Given the description of an element on the screen output the (x, y) to click on. 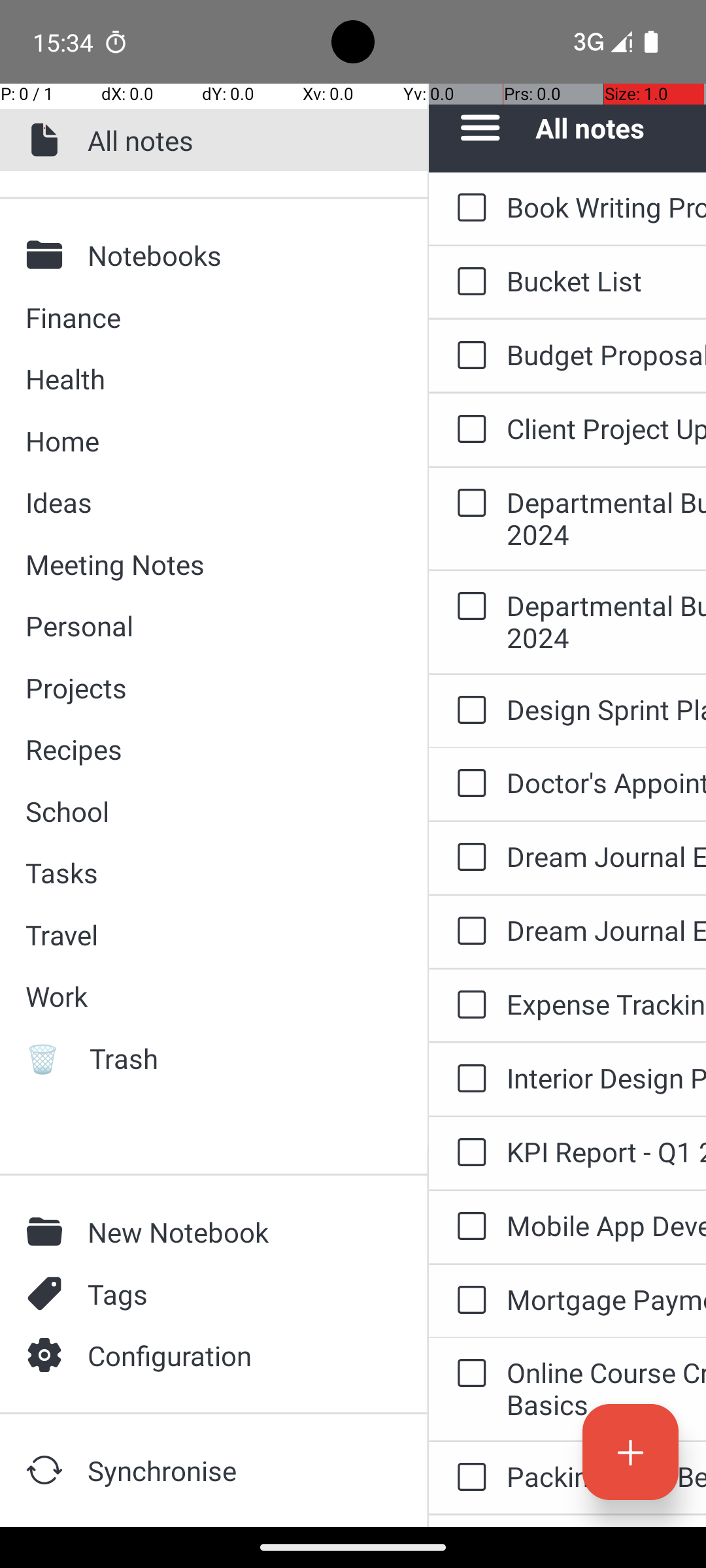
 Element type: android.widget.TextView (47, 254)
Notebooks Element type: android.widget.TextView (235, 254)
 Element type: android.widget.TextView (47, 1231)
New Notebook Element type: android.widget.TextView (235, 1231)
 Element type: android.widget.TextView (47, 1293)
 Element type: android.widget.TextView (47, 1354)
Configuration Element type: android.widget.TextView (235, 1354)
 Element type: android.widget.TextView (47, 1469)
Synchronise Element type: android.widget.TextView (235, 1469)
to-do: Book Writing Project - Mystery Novel Element type: android.widget.CheckBox (467, 208)
Book Writing Project - Mystery Novel Element type: android.widget.TextView (606, 206)
to-do: Bucket List Element type: android.widget.CheckBox (467, 282)
Bucket List Element type: android.widget.TextView (606, 280)
to-do: Budget Proposal - 2025 Element type: android.widget.CheckBox (467, 356)
Budget Proposal - 2025 Element type: android.widget.TextView (606, 354)
to-do: Departmental Budget Meeting - February 14, 2024 Element type: android.widget.CheckBox (467, 503)
Departmental Budget Meeting - February 14, 2024 Element type: android.widget.TextView (606, 517)
to-do: Doctor's Appointment Notes - May 3rd Element type: android.widget.CheckBox (467, 783)
Doctor's Appointment Notes - May 3rd Element type: android.widget.TextView (606, 781)
to-do: Dream Journal Entry Element type: android.widget.CheckBox (467, 857)
Dream Journal Entry Element type: android.widget.TextView (606, 855)
to-do: Expense Tracking Spreadsheet Element type: android.widget.CheckBox (467, 1005)
to-do: Interior Design Project - Living Room Makeover Element type: android.widget.CheckBox (467, 1079)
Interior Design Project - Living Room Makeover Element type: android.widget.TextView (606, 1077)
to-do: KPI Report - Q1 2024 Element type: android.widget.CheckBox (467, 1153)
to-do: Mortgage Payment Schedule Element type: android.widget.CheckBox (467, 1300)
Mortgage Payment Schedule Element type: android.widget.TextView (606, 1298)
to-do: Packing List - Beach Vacation Element type: android.widget.CheckBox (467, 1477)
Packing List - Beach Vacation Element type: android.widget.TextView (606, 1475)
to-do: Packing List - Summer Vacation Element type: android.widget.CheckBox (467, 1520)
🗑️ Element type: android.widget.TextView (48, 1057)
